Given the description of an element on the screen output the (x, y) to click on. 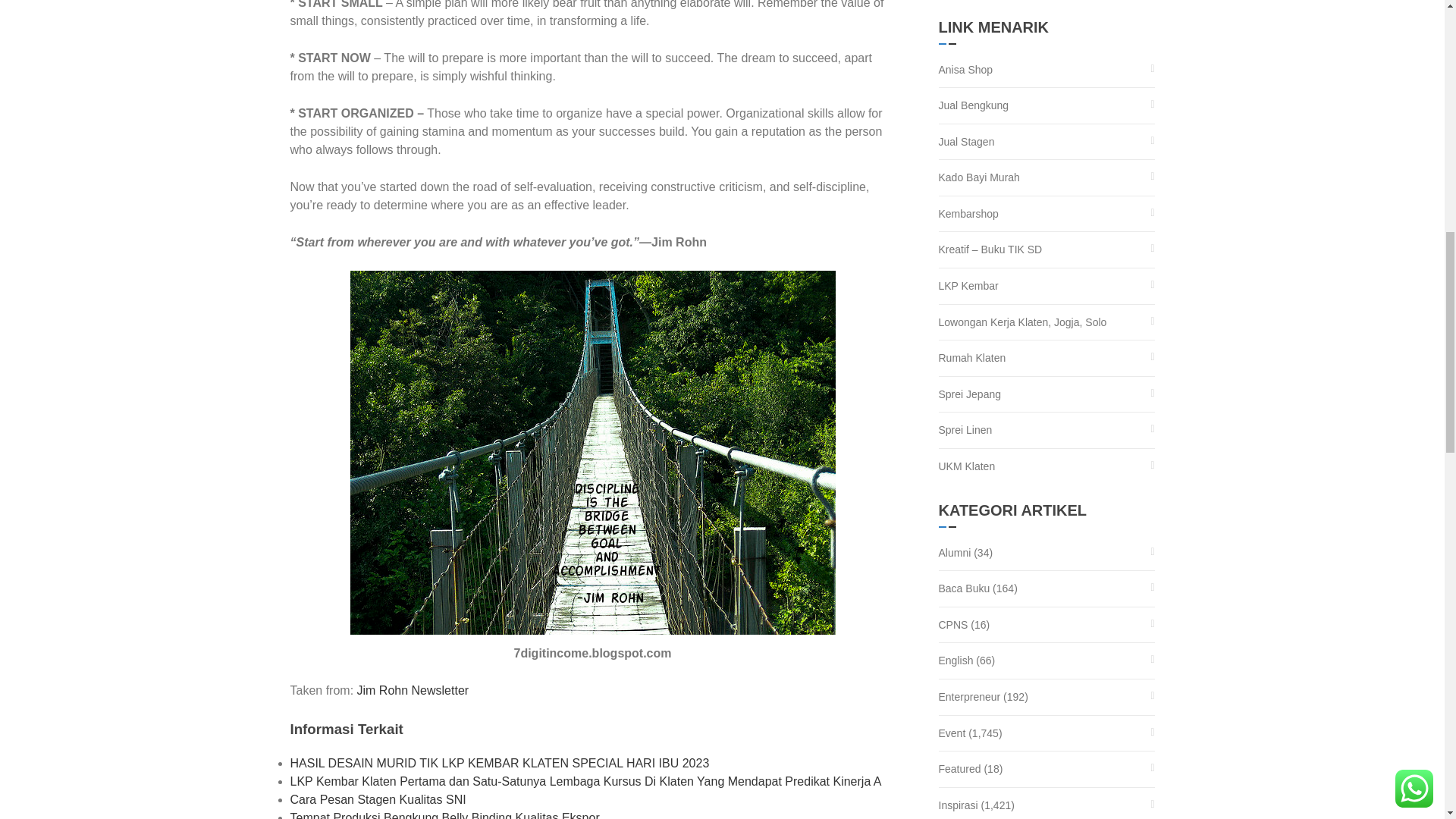
Rumah Klaten (972, 357)
Belanja MUDAH, Harga MURAH (968, 213)
Kursus Komputer Kursus Online Kursus Bahasa Inggris (968, 285)
Tempat Produksi Bengkung Belly Binding Kualitas Ekspor (443, 815)
Cara Pesan Stagen Kualitas SNI (377, 799)
Lowongan Kerja Klaten, Jogja, Solo (1022, 322)
Jual Kado Bayi Murah (979, 177)
Jual Stagen Setagen (966, 141)
Jual Bengkung (974, 105)
Jual Kain Lurik dan Pakaian Diet (965, 68)
